Given the description of an element on the screen output the (x, y) to click on. 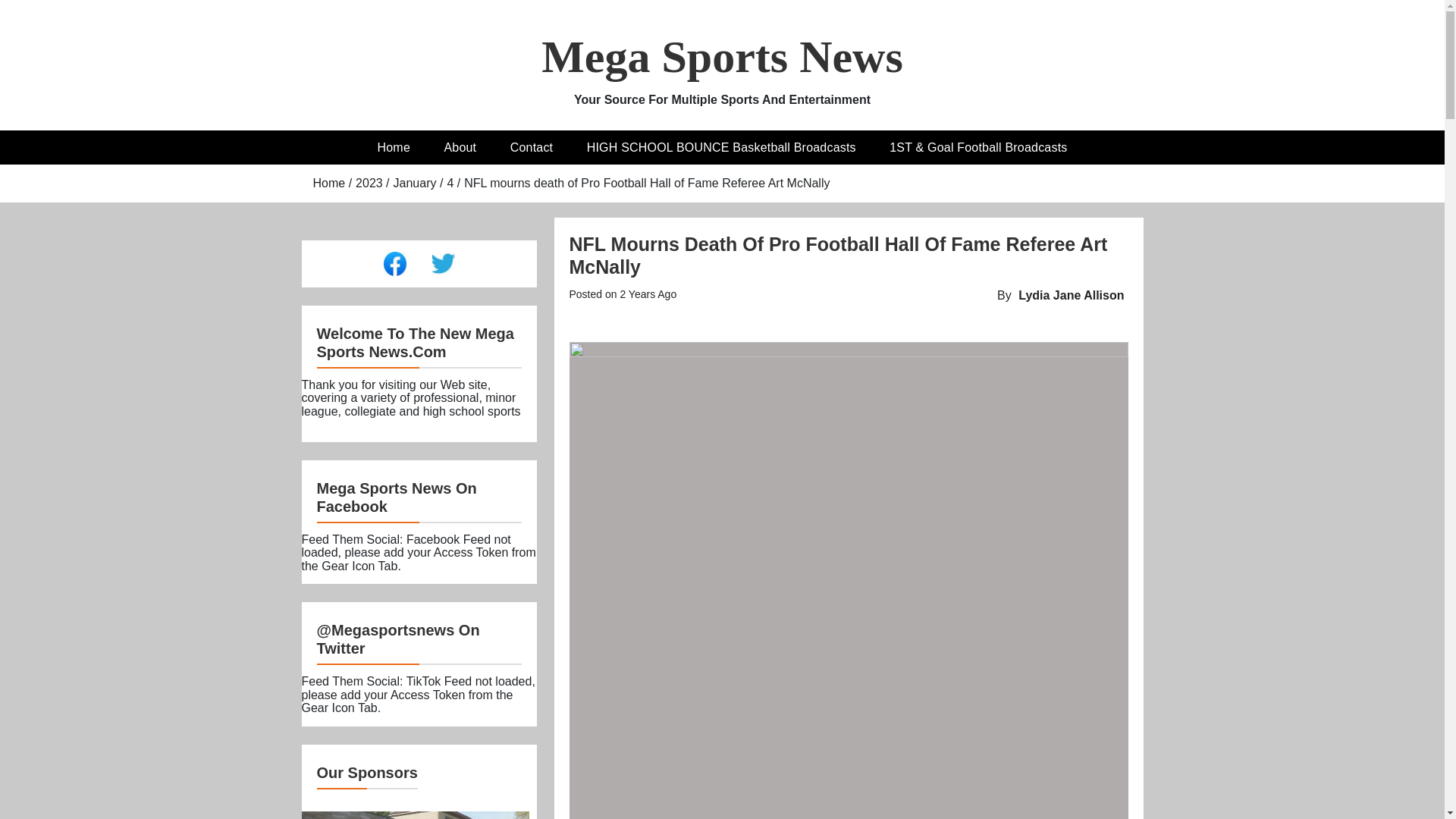
HIGH SCHOOL BOUNCE Basketball Broadcasts (721, 147)
2 Years Ago (648, 294)
Mega Sports News (721, 56)
Home (329, 182)
2023 (368, 182)
Lydia Jane Allison (1070, 295)
Home (393, 147)
January (414, 182)
Contact (532, 147)
About (460, 147)
